Given the description of an element on the screen output the (x, y) to click on. 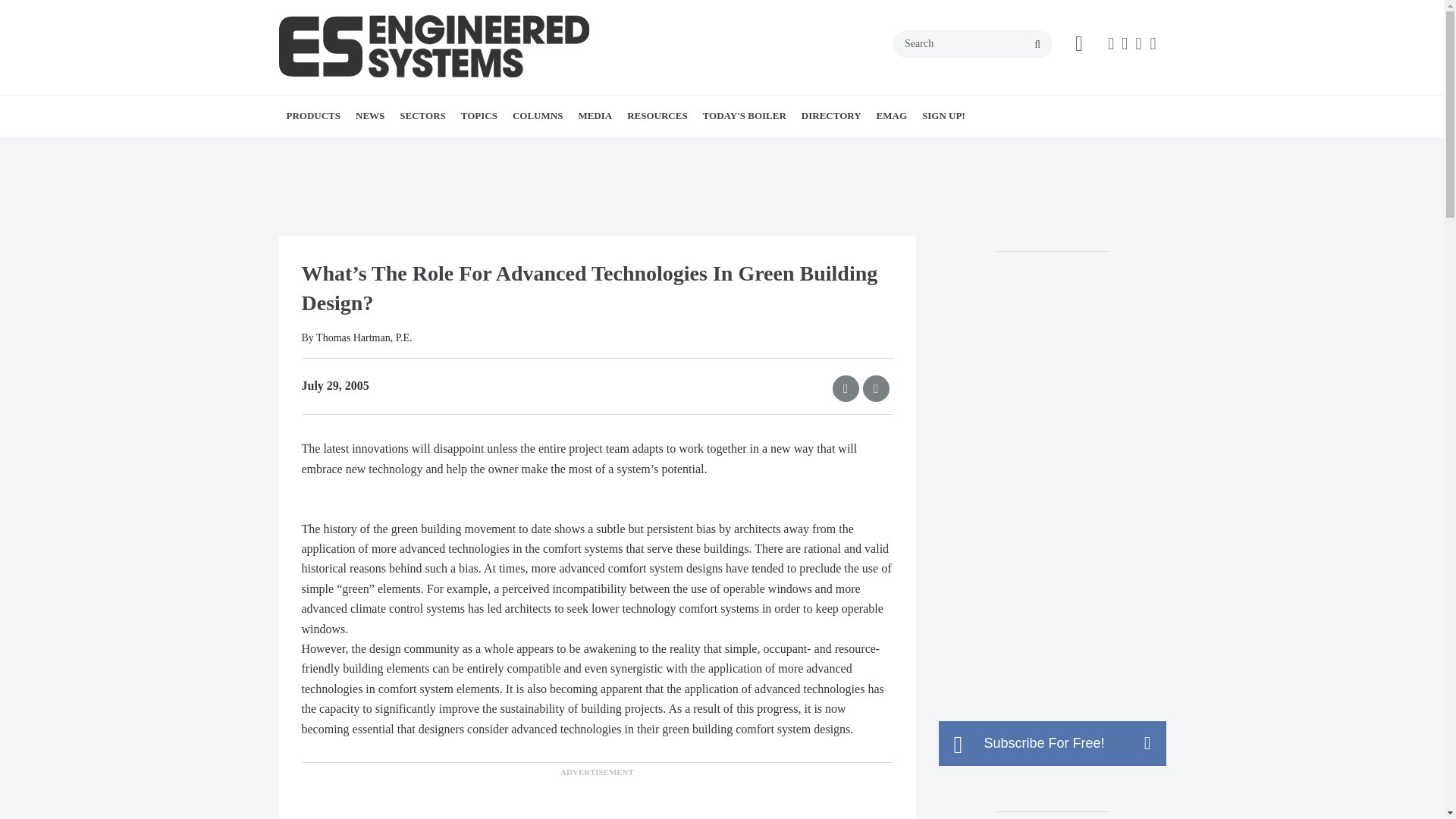
IAQ (574, 149)
RETROFITS (587, 149)
LIFE SAFETY (577, 149)
Search (972, 43)
HOSPITALITY (509, 149)
HEALTH CARE (504, 149)
COMMISSIONING (606, 149)
MISSION CRITICAL (517, 149)
PRODUCTS (314, 115)
SECTORS (421, 115)
TOPICS (478, 115)
BUILDING AUTOMATION (547, 149)
NEWS (369, 115)
COMMERCIAL (493, 149)
VENTILATION (592, 149)
